Given the description of an element on the screen output the (x, y) to click on. 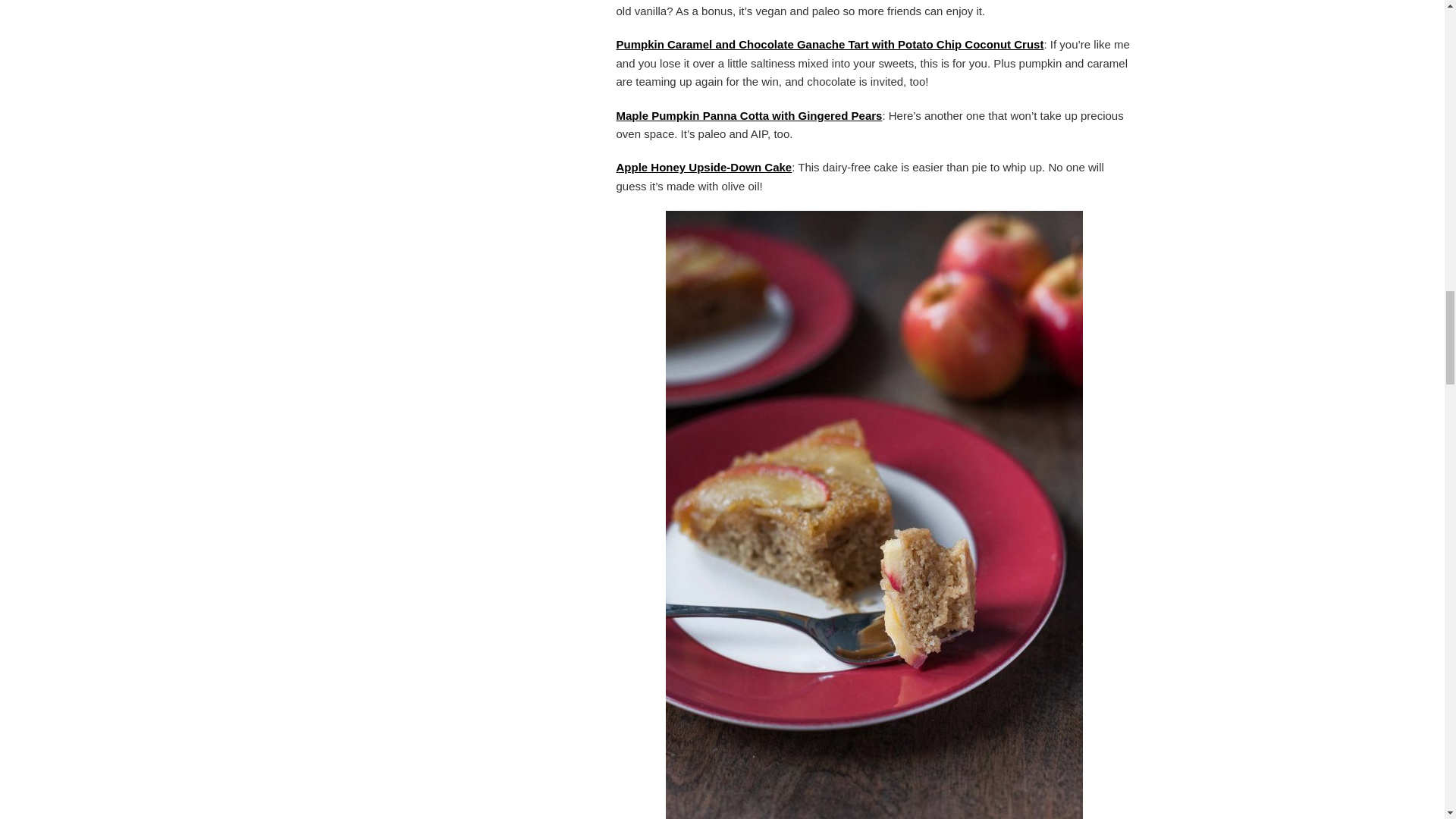
Apple Honey Upside-Down Cake (703, 166)
Maple Pumpkin Panna Cotta with Gingered Pears (748, 115)
